Given the description of an element on the screen output the (x, y) to click on. 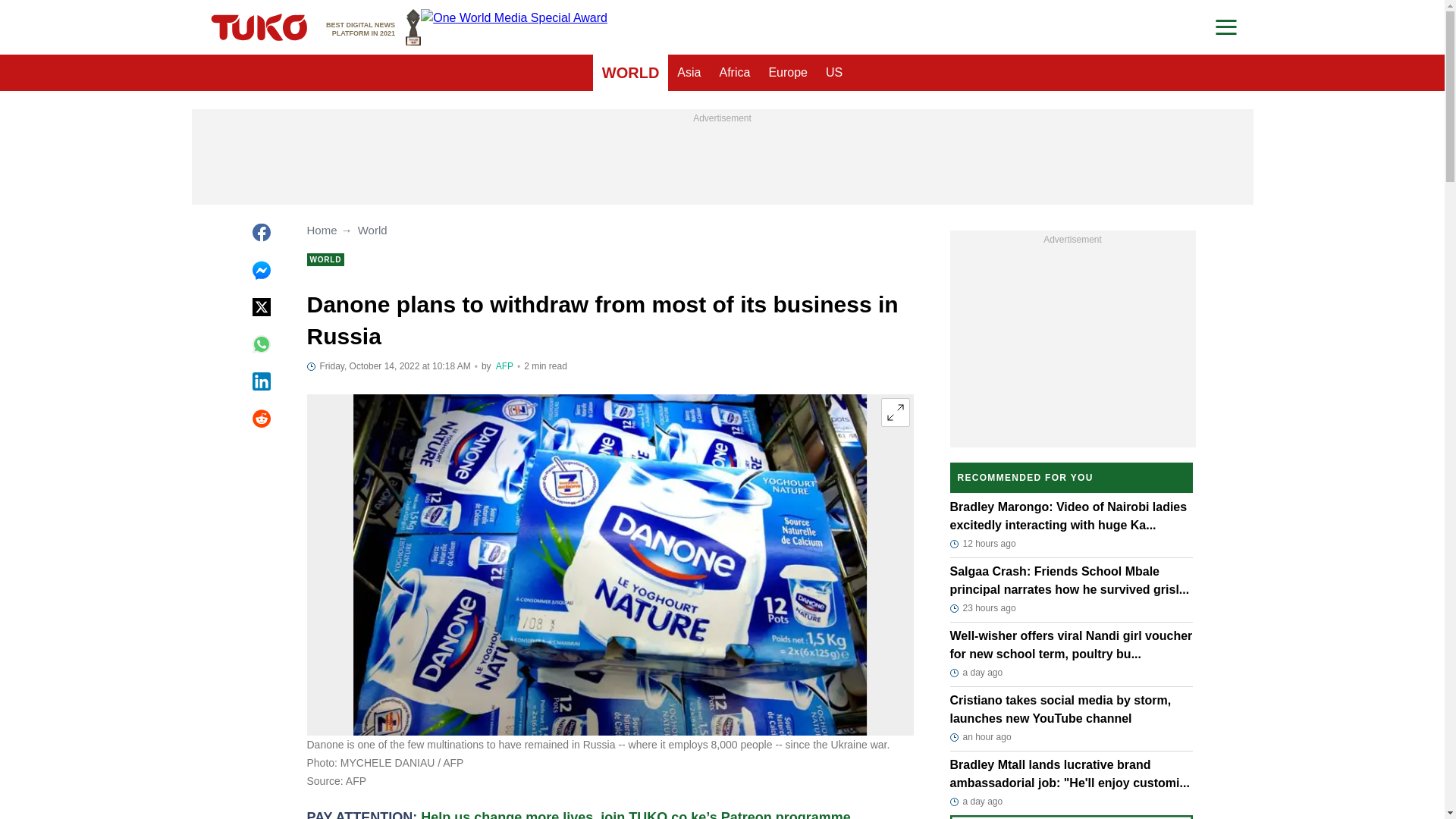
Expand image (895, 412)
WORLD (630, 72)
Author page (504, 366)
Africa (734, 72)
Europe (787, 72)
US (833, 72)
Asia (689, 72)
